Given the description of an element on the screen output the (x, y) to click on. 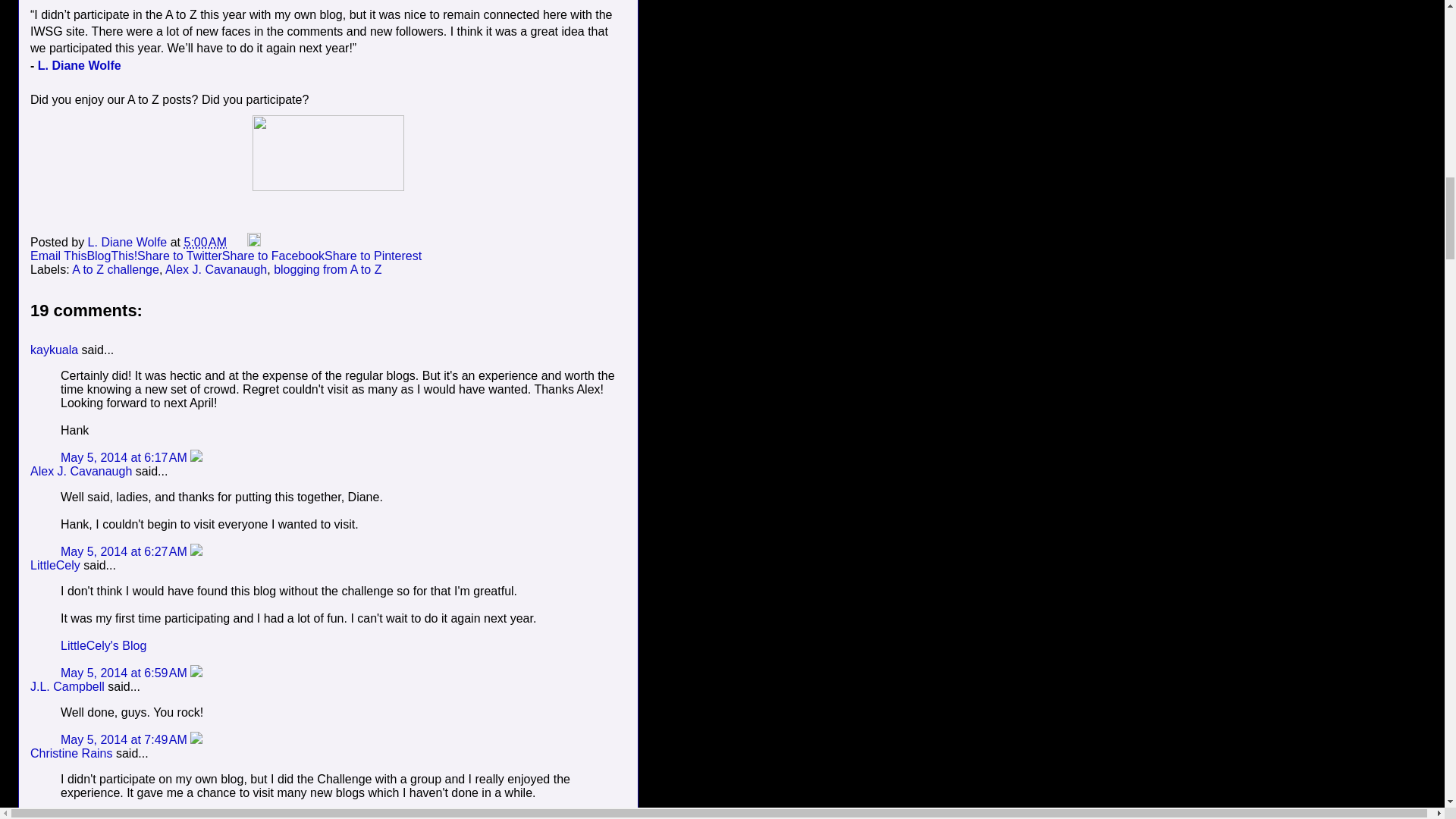
Email This (57, 255)
Share to Pinterest (373, 255)
Share to Facebook (273, 255)
comment permalink (125, 457)
L. Diane Wolfe (128, 241)
Edit Post (253, 241)
Email Post (238, 241)
comment permalink (125, 551)
Delete Comment (196, 551)
Share to Twitter (179, 255)
Delete Comment (196, 457)
Email This (57, 255)
permanent link (205, 241)
Share to Pinterest (373, 255)
Share to Facebook (273, 255)
